Given the description of an element on the screen output the (x, y) to click on. 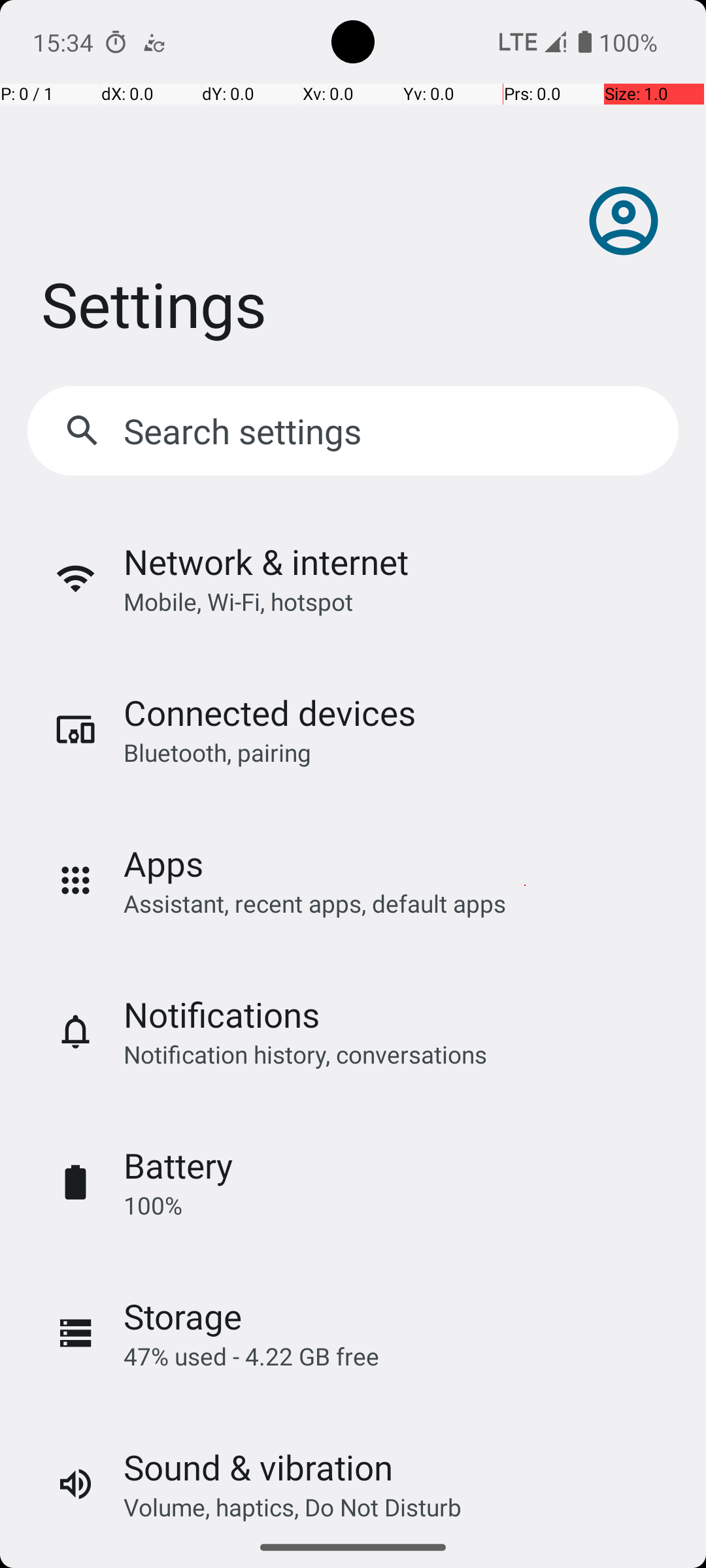
47% used - 4.22 GB free Element type: android.widget.TextView (251, 1355)
